Given the description of an element on the screen output the (x, y) to click on. 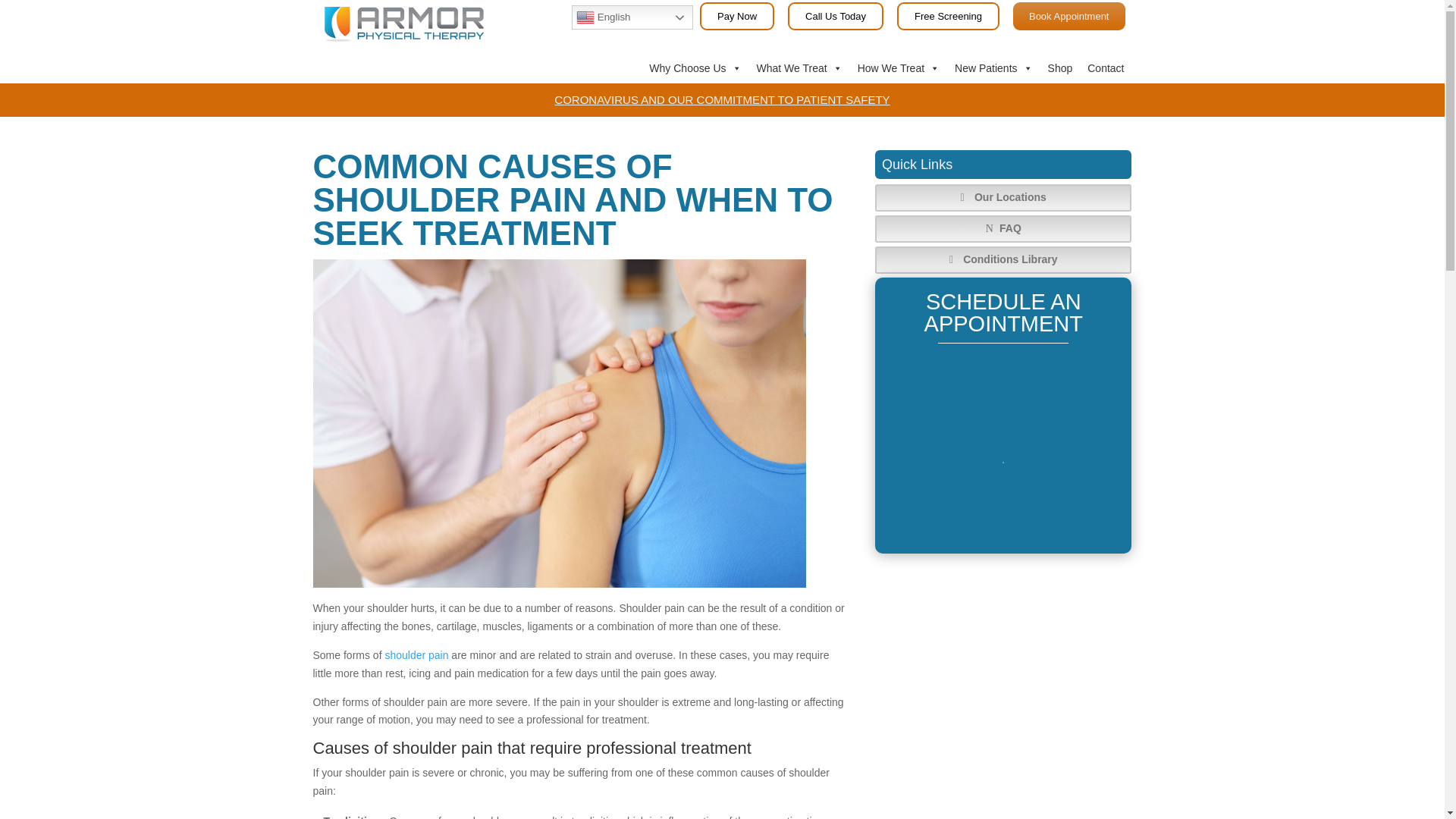
How We Treat (898, 68)
Free Screening (947, 16)
Why Choose Us (695, 68)
Call Us Today (835, 16)
Pay Now (737, 16)
What We Treat (799, 68)
English (632, 16)
Book Appointment (1069, 16)
